Given the description of an element on the screen output the (x, y) to click on. 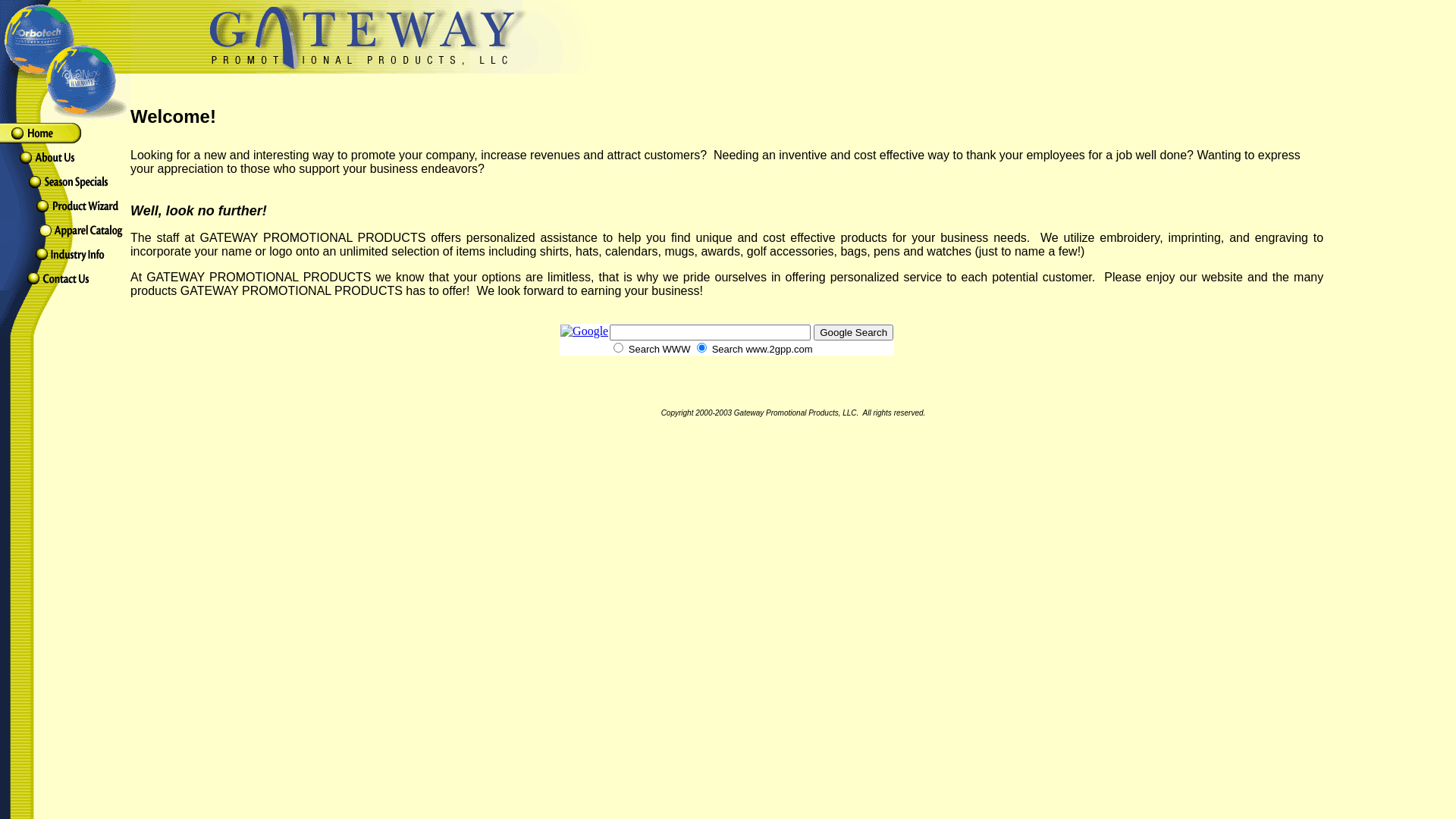
Google Search Element type: text (853, 332)
